Given the description of an element on the screen output the (x, y) to click on. 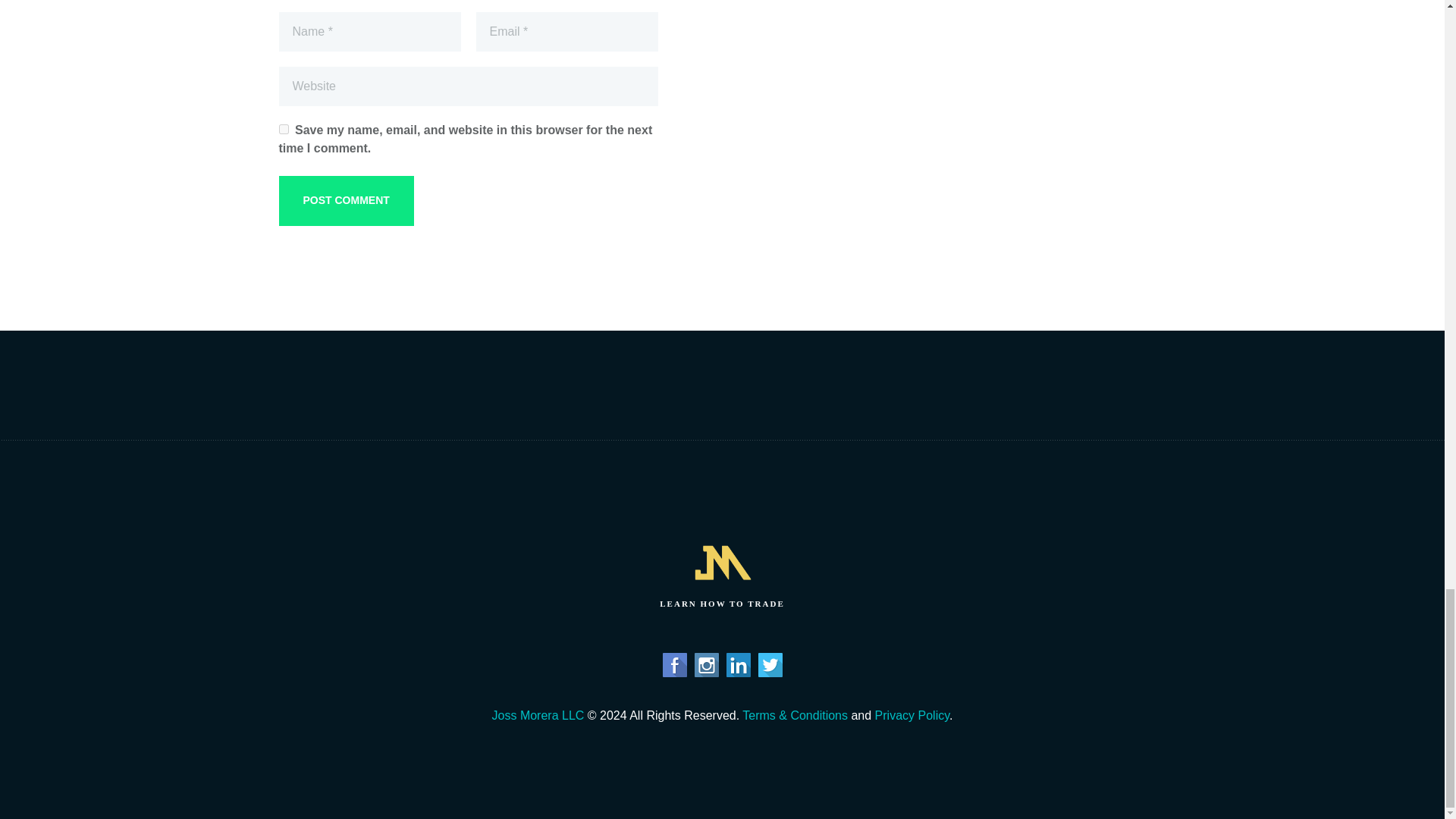
Post Comment (346, 201)
LEARN HOW TO TRADE (721, 573)
yes (283, 129)
Post Comment (346, 201)
